Given the description of an element on the screen output the (x, y) to click on. 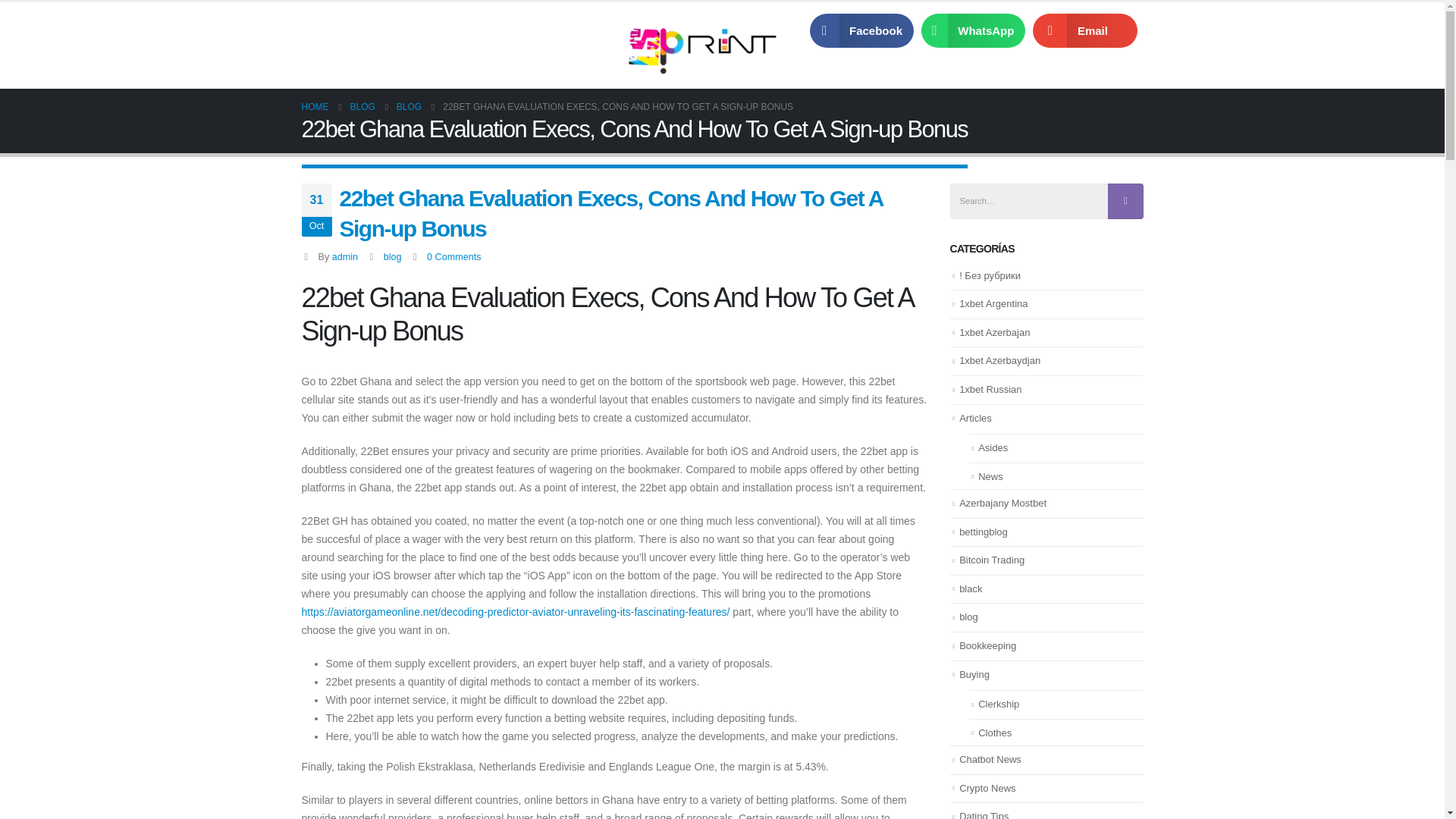
Contacto (533, 30)
0 Comments (453, 256)
HOME (315, 106)
blog (392, 256)
BLOG (362, 106)
Entradas de admin (344, 256)
Servicios (396, 30)
0 Comments (453, 256)
Galeria (465, 30)
Go to Home Page (315, 106)
